Given the description of an element on the screen output the (x, y) to click on. 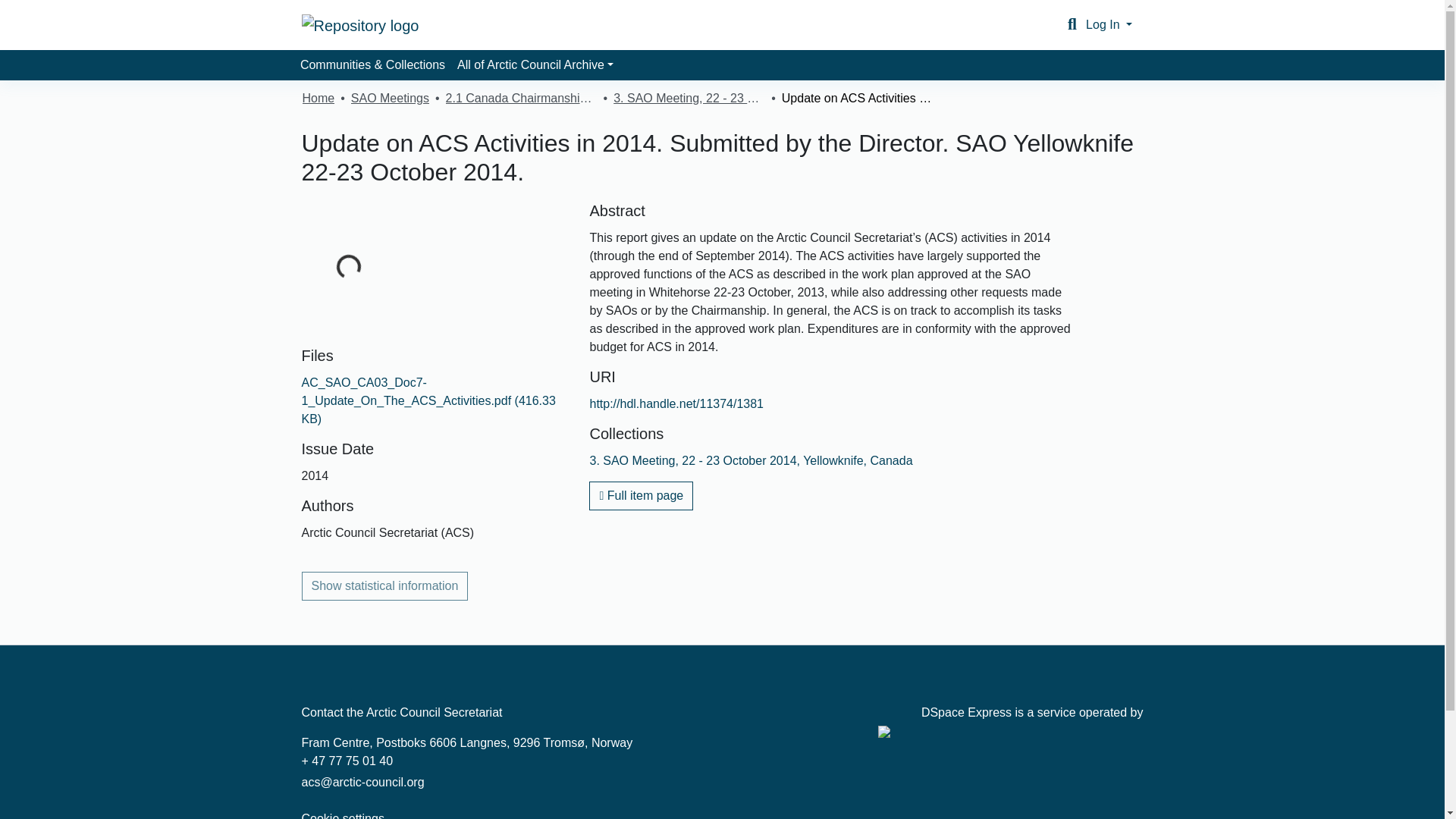
Log In (1108, 24)
SAO Meetings (389, 98)
3. SAO Meeting, 22 - 23 October 2014, Yellowknife, Canada (750, 460)
DSpace Express is a service operated by (1009, 721)
All of Arctic Council Archive (535, 64)
Search (1072, 24)
3. SAO Meeting, 22 - 23 October 2014, Yellowknife, Canada (688, 98)
Full item page (641, 495)
Home (317, 98)
Show statistical information (384, 585)
Cookie settings (342, 815)
